Given the description of an element on the screen output the (x, y) to click on. 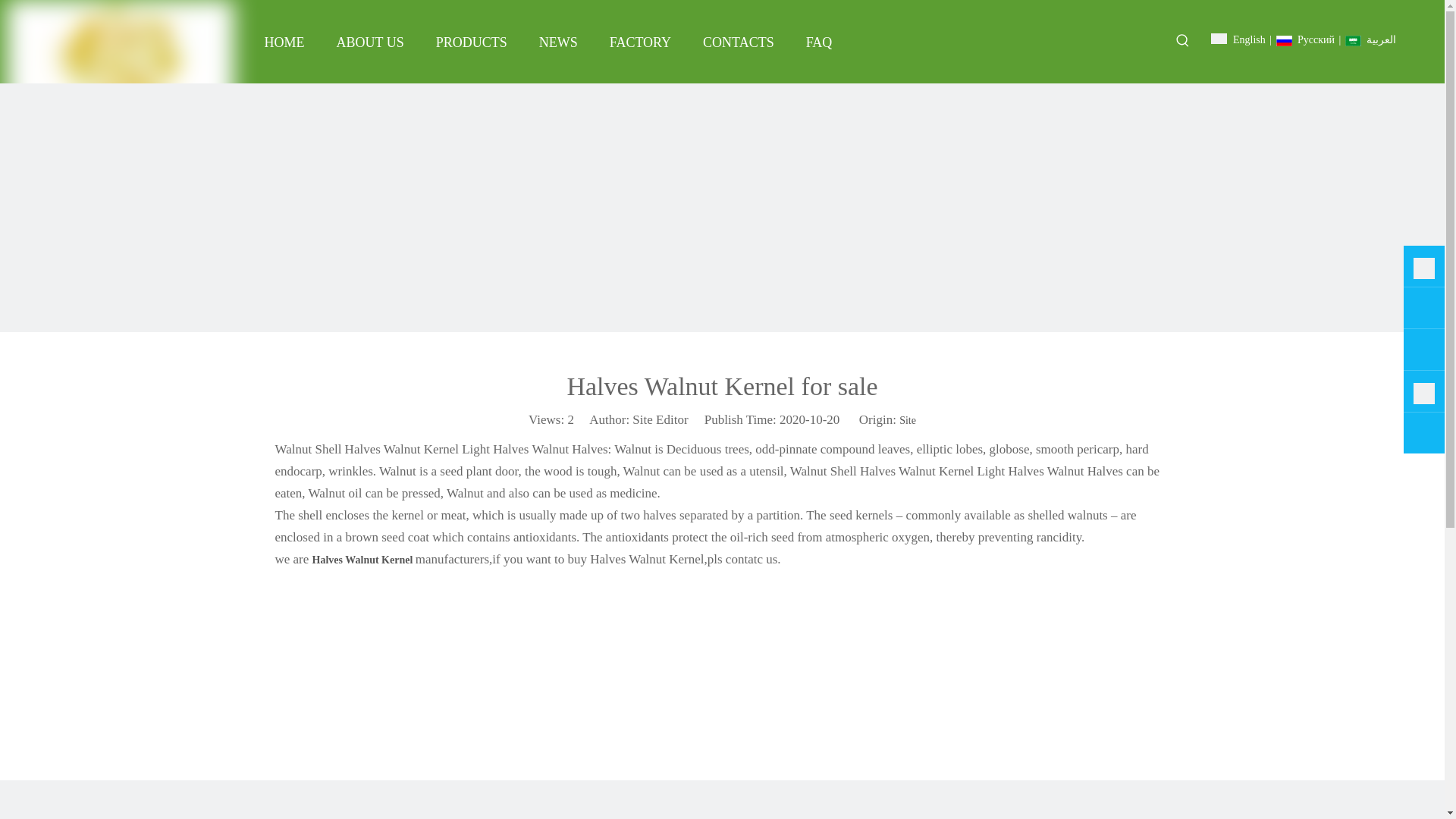
English (1238, 40)
Halves Walnut Kernel (363, 559)
Site (907, 419)
HOME (284, 42)
CONTACTS (738, 42)
PRODUCTS (471, 42)
NEWS (558, 42)
Halves Walnut Kernel (363, 559)
FAQ (819, 42)
ABOUT US (369, 42)
FACTORY (640, 42)
